Given the description of an element on the screen output the (x, y) to click on. 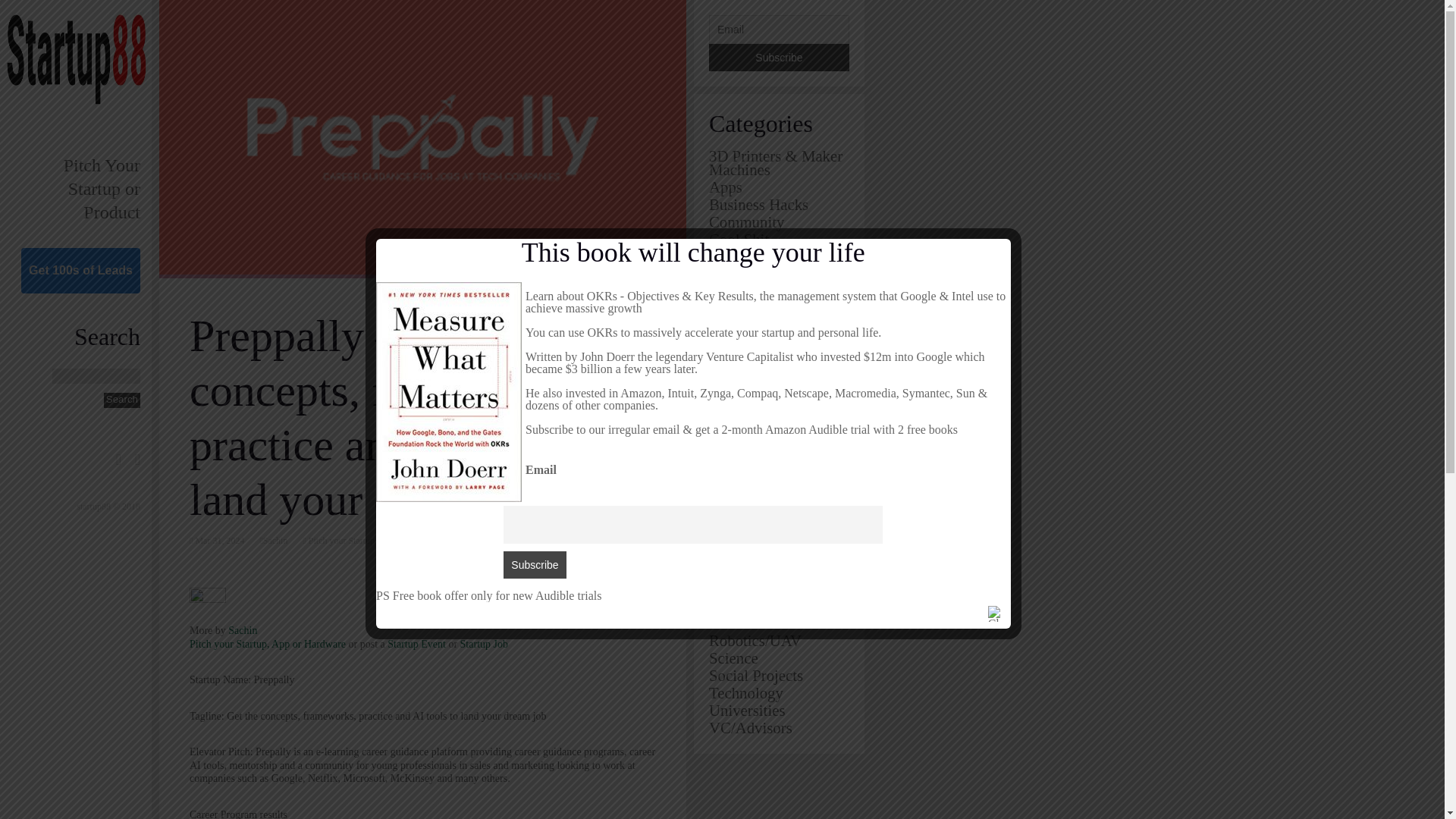
Startup Job (484, 644)
Exits (725, 343)
Pitch your Startup (339, 540)
Search (121, 400)
Featured (736, 361)
Subscribe (778, 57)
Sachin (275, 540)
Business Hacks (758, 203)
Crowdfunding (754, 273)
Posts by Sachin (242, 630)
Hardware (740, 395)
Countries (739, 256)
Entrepreneurs (753, 308)
Daily Startup Tip (763, 291)
Pitch your Startup, App or Hardware (267, 644)
